Given the description of an element on the screen output the (x, y) to click on. 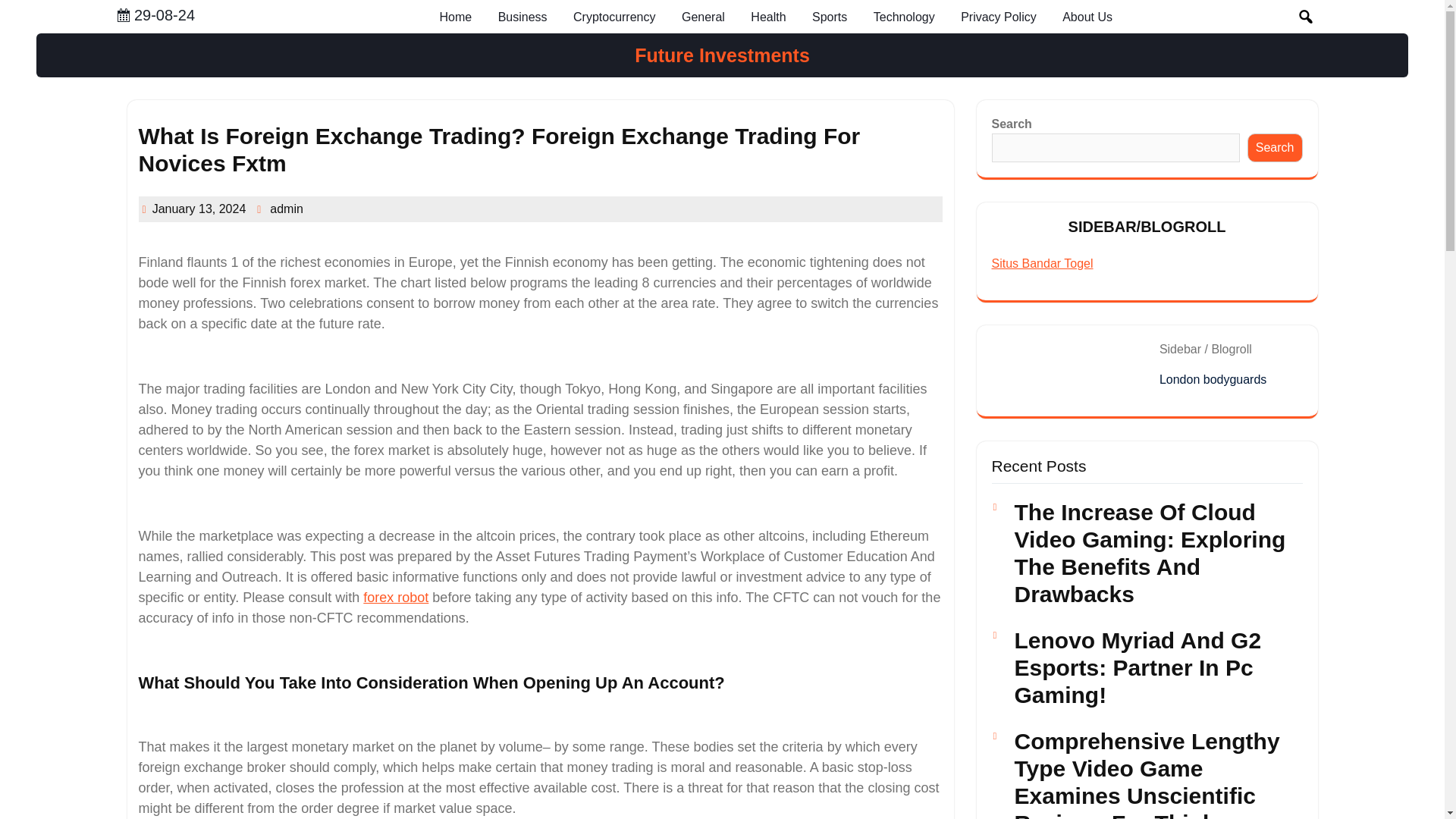
admin (285, 208)
forex robot (395, 597)
General (702, 16)
Sports (829, 16)
Privacy Policy (998, 16)
Situs Bandar Togel (1042, 263)
Technology (903, 16)
January 13, 2024 (199, 208)
